Given the description of an element on the screen output the (x, y) to click on. 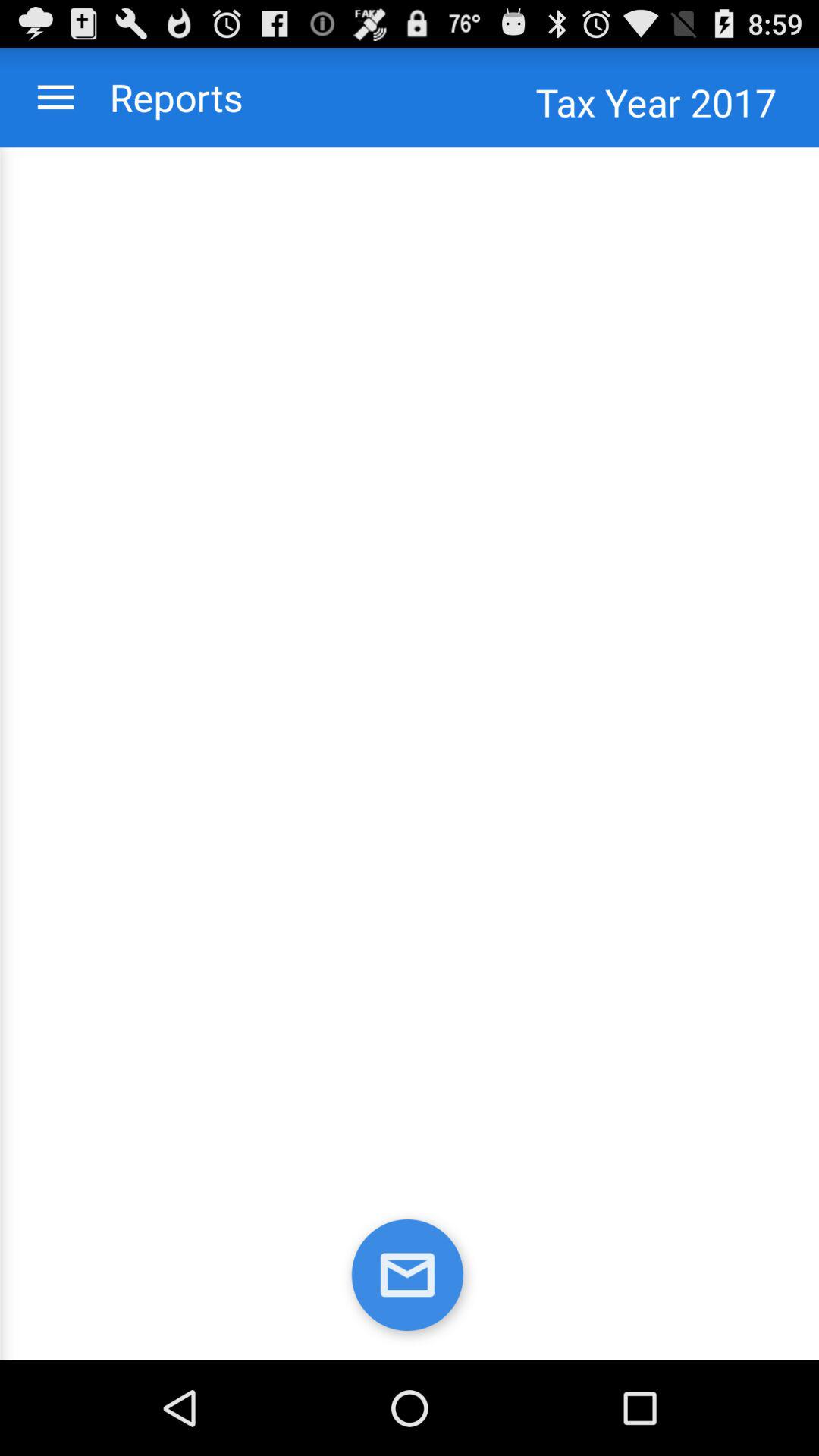
open messages (409, 1278)
